Given the description of an element on the screen output the (x, y) to click on. 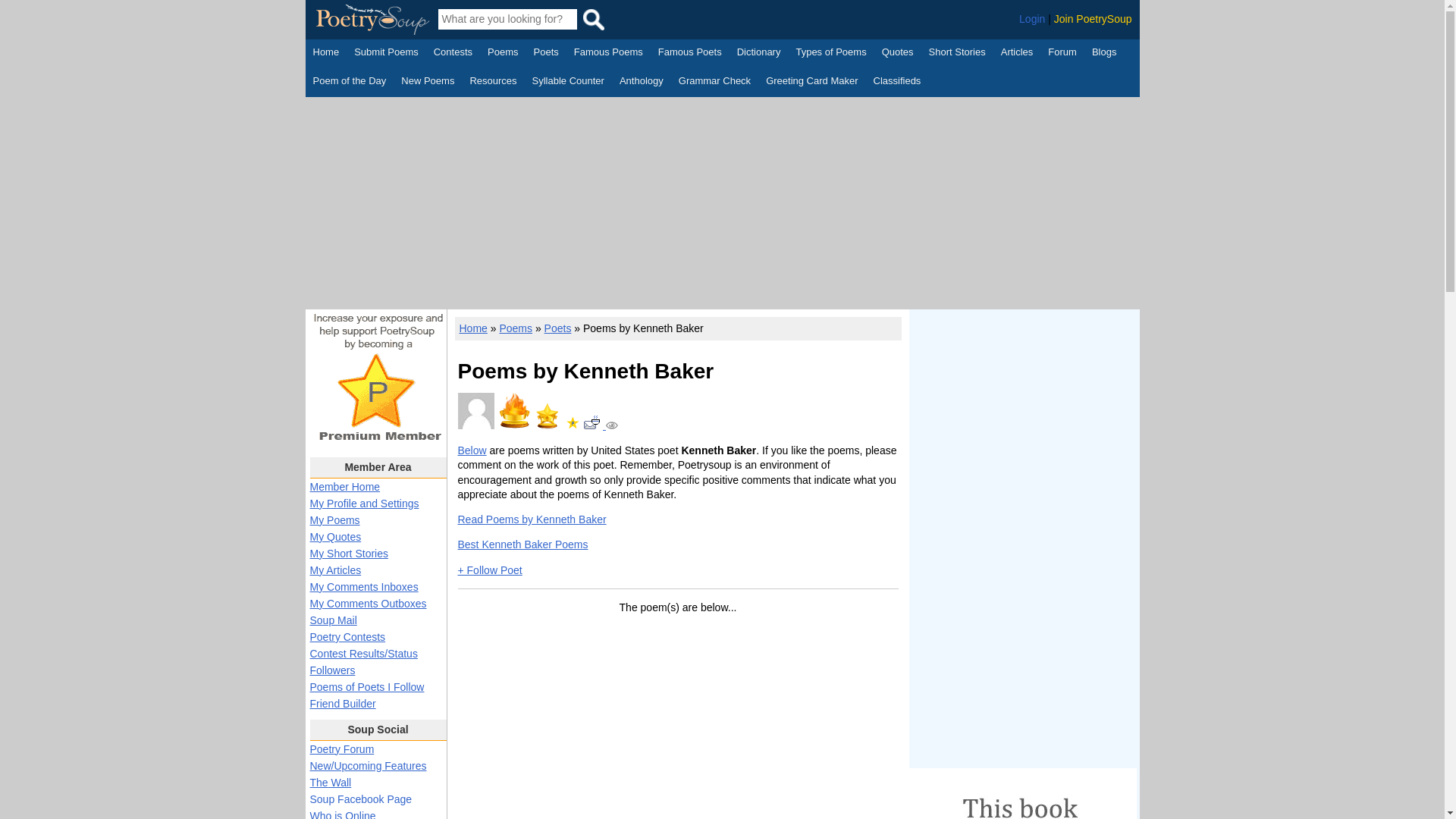
Types of Poems (830, 53)
Classifieds (897, 82)
Famous Poems (608, 53)
Poets (546, 53)
Syllable Counter (568, 82)
Home (326, 53)
Articles (1017, 53)
Resources (492, 82)
Famous Poets (690, 53)
Quotes (898, 53)
